Given the description of an element on the screen output the (x, y) to click on. 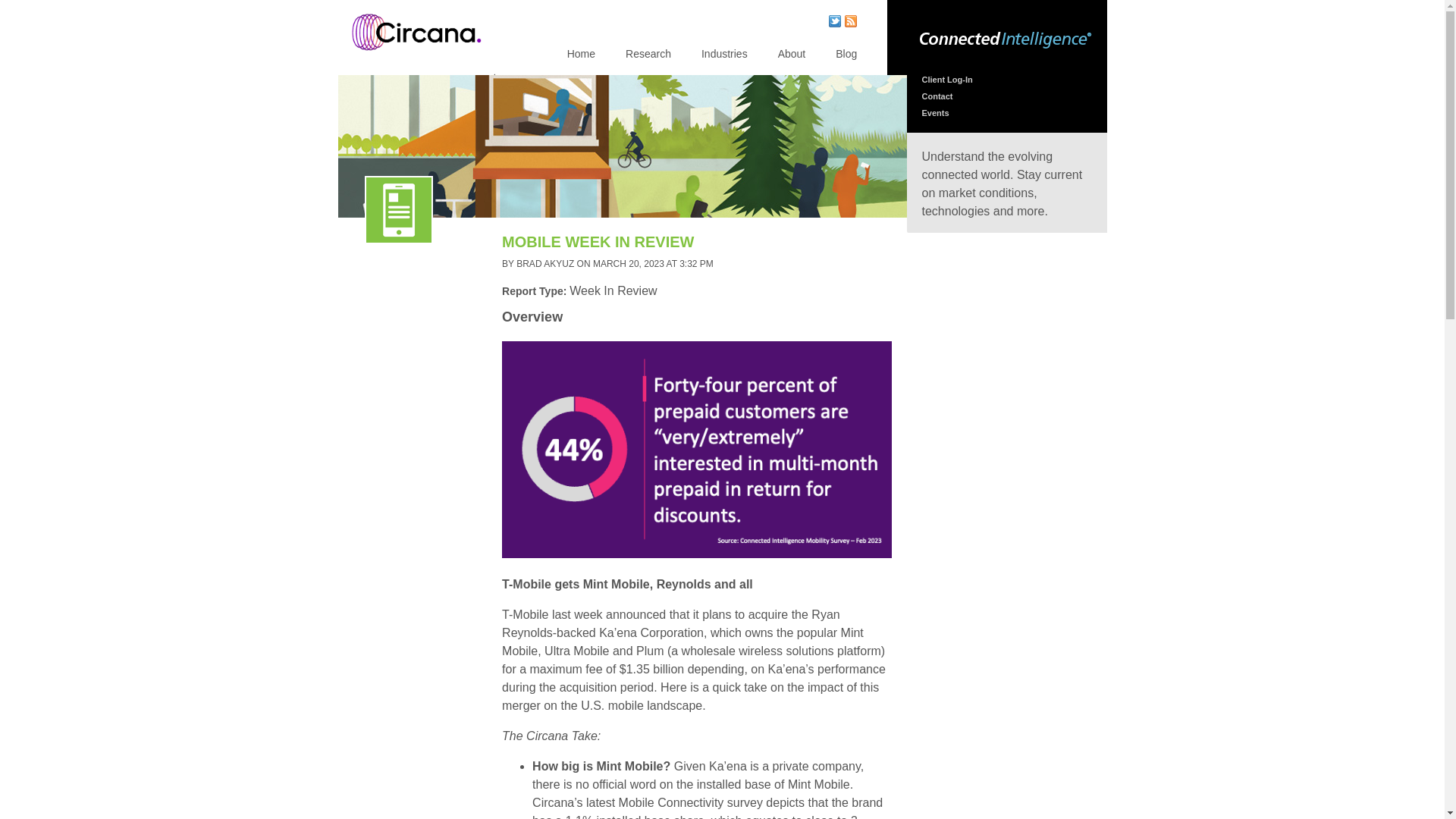
Home (416, 60)
Research (648, 53)
Home (581, 53)
About (791, 53)
Contact (937, 95)
Events (935, 112)
Blog (846, 53)
Industries (724, 53)
Client Log-In (946, 79)
